Given the description of an element on the screen output the (x, y) to click on. 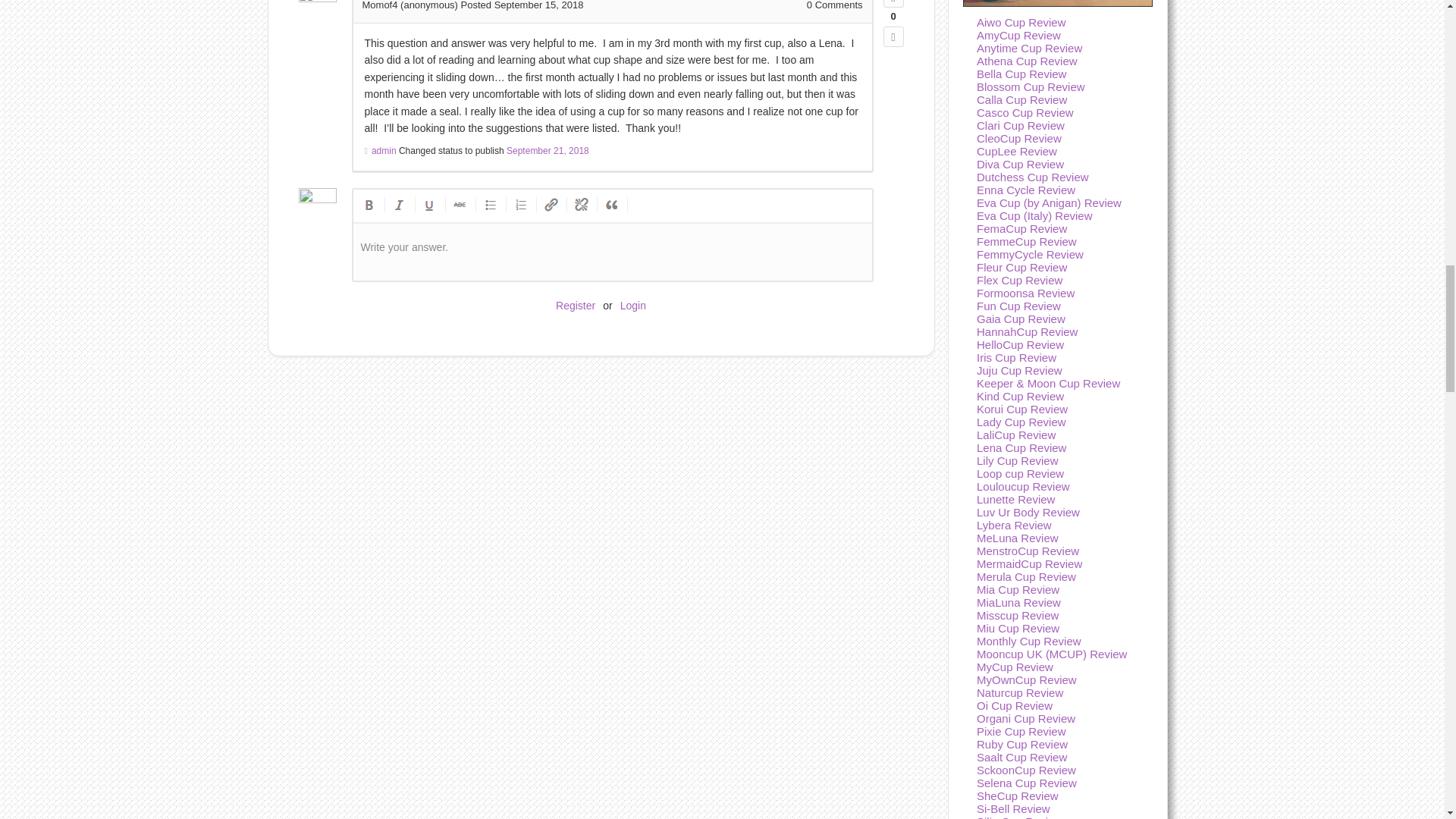
Up vote this post (892, 3)
Down vote this post (892, 36)
